Given the description of an element on the screen output the (x, y) to click on. 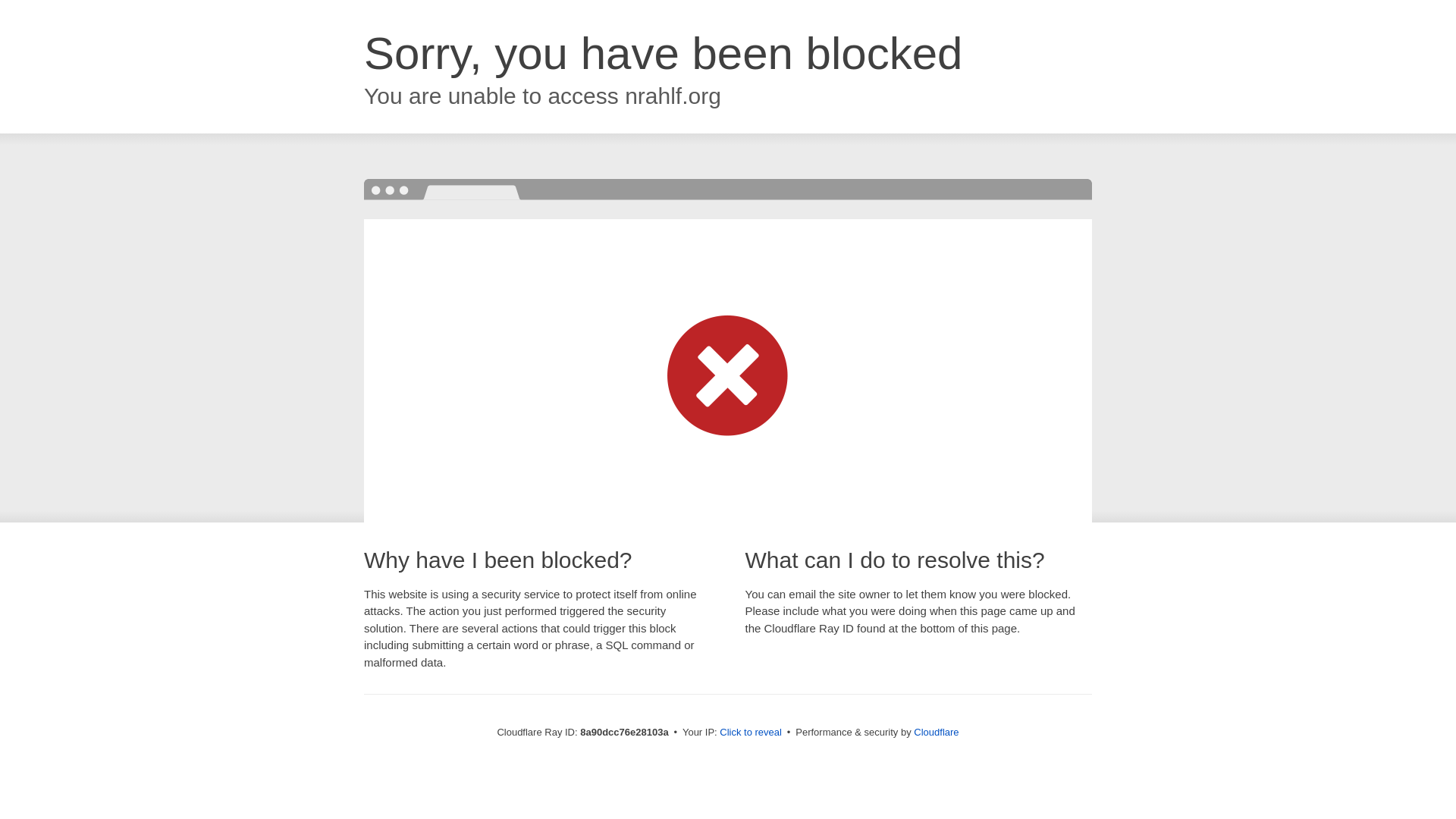
Click to reveal (750, 732)
Cloudflare (936, 731)
